Given the description of an element on the screen output the (x, y) to click on. 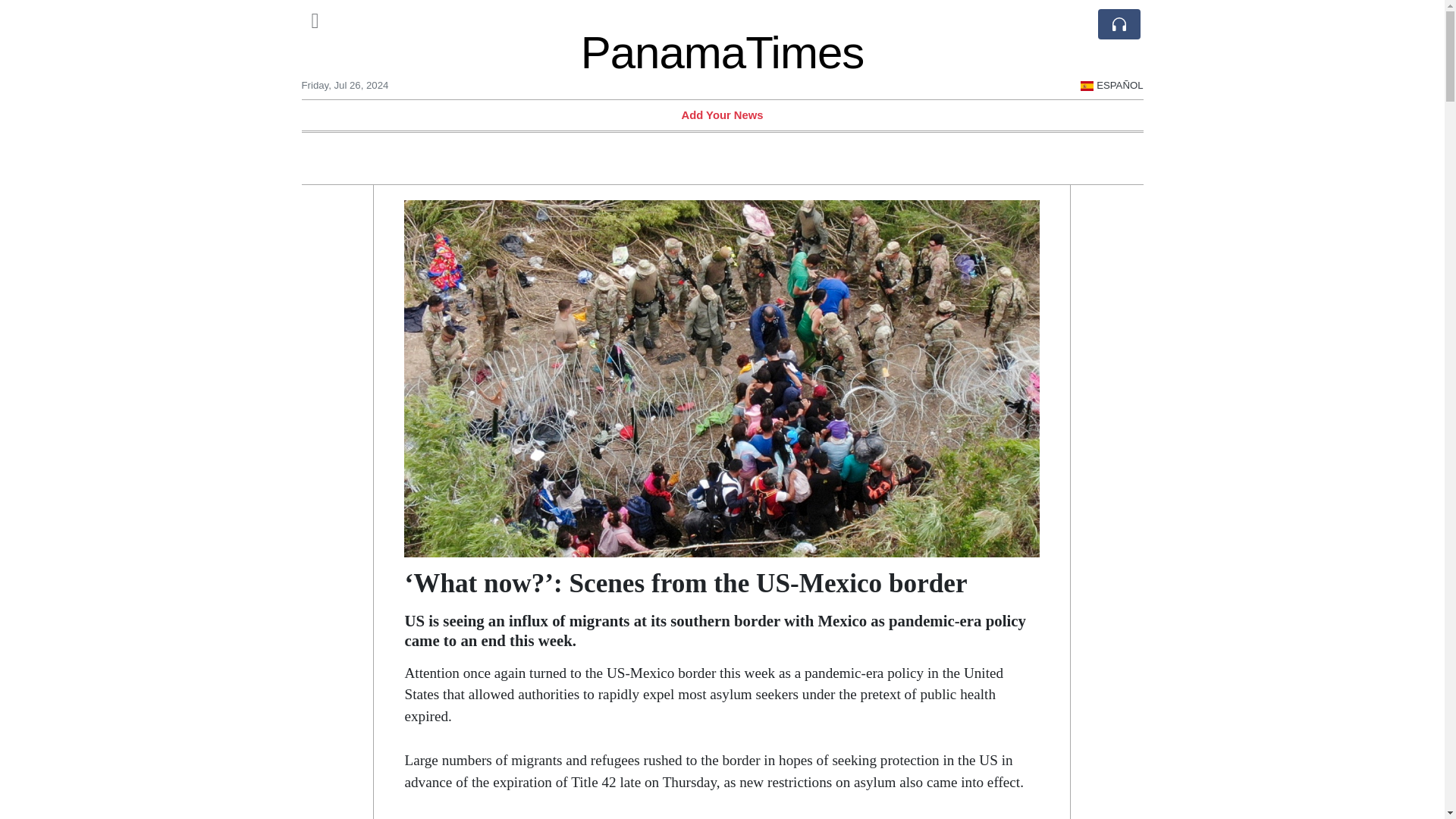
Add Your News (721, 114)
PanamaTimes (722, 52)
Joe Biden (597, 818)
